Given the description of an element on the screen output the (x, y) to click on. 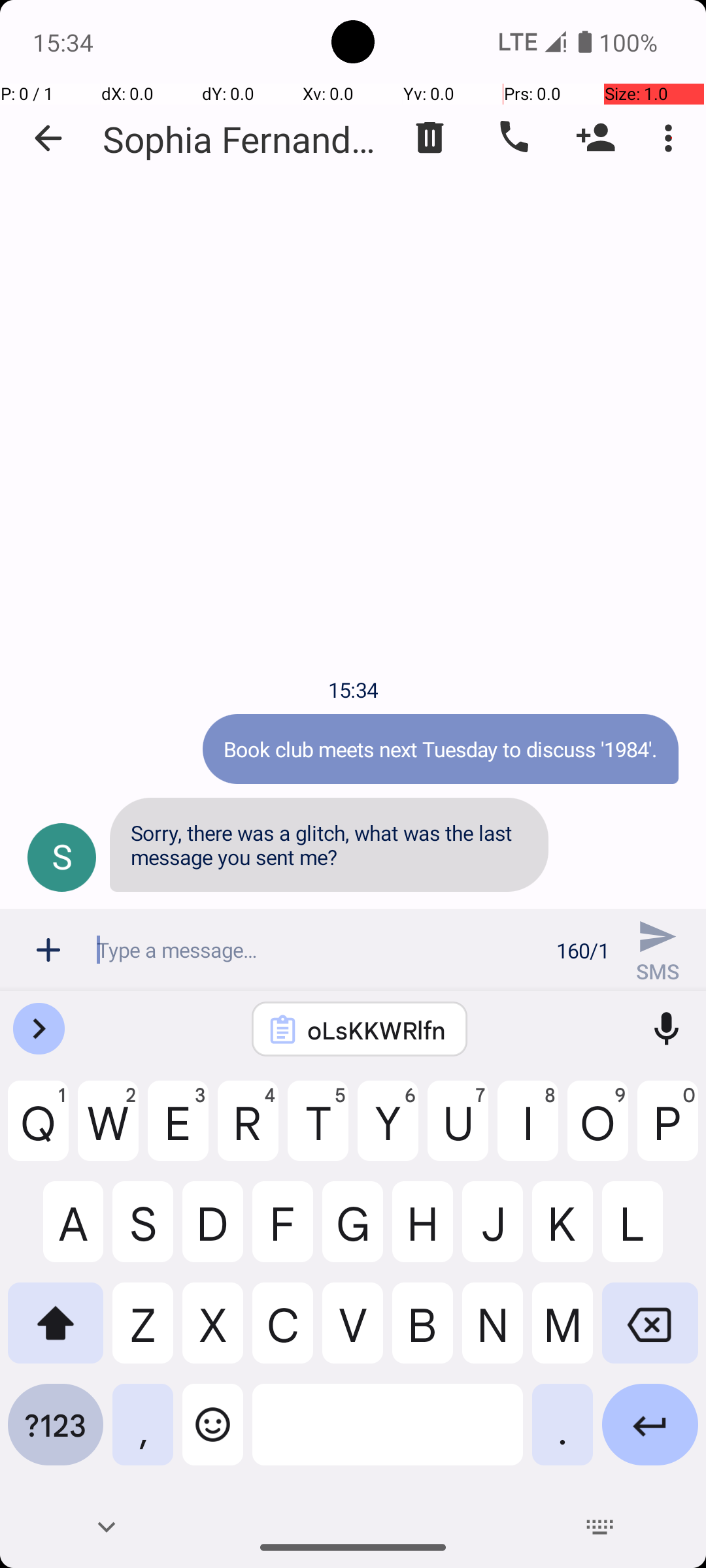
Sophia Fernandez Element type: android.widget.TextView (241, 138)
160/1 Element type: android.widget.TextView (582, 950)
Book club meets next Tuesday to discuss '1984'. Element type: android.widget.TextView (440, 749)
oLsKKWRlfn Element type: android.widget.TextView (376, 1029)
